Given the description of an element on the screen output the (x, y) to click on. 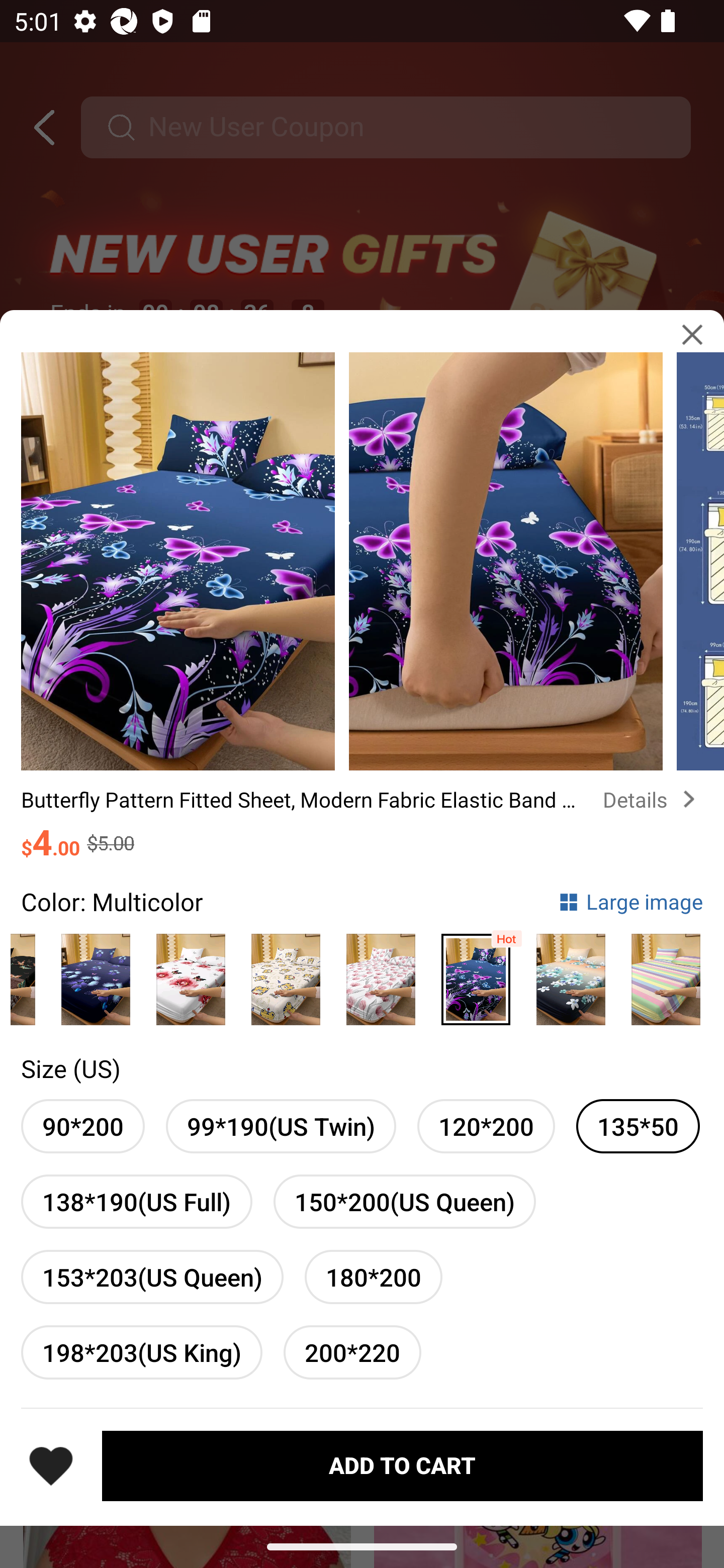
Details (653, 799)
Color: Multicolor (111, 901)
Large image (630, 901)
Multicolor (95, 974)
Multicolor (190, 974)
Multicolor (285, 974)
Multicolor (380, 974)
Multicolor (475, 974)
Multicolor (570, 974)
Multicolor (665, 974)
Size (US) (70, 1068)
90*200 90*200unselected option (82, 1126)
99*190(US Twin) 99*190(US Twin)unselected option (280, 1126)
120*200 120*200unselected option (486, 1126)
135*50 135*50selected option (638, 1126)
138*190(US Full) 138*190(US Full)unselected option (136, 1201)
180*200 180*200unselected option (373, 1276)
198*203(US King) 198*203(US King)unselected option (141, 1351)
200*220 200*220unselected option (352, 1351)
ADD TO CART (402, 1465)
Save (50, 1465)
